Given the description of an element on the screen output the (x, y) to click on. 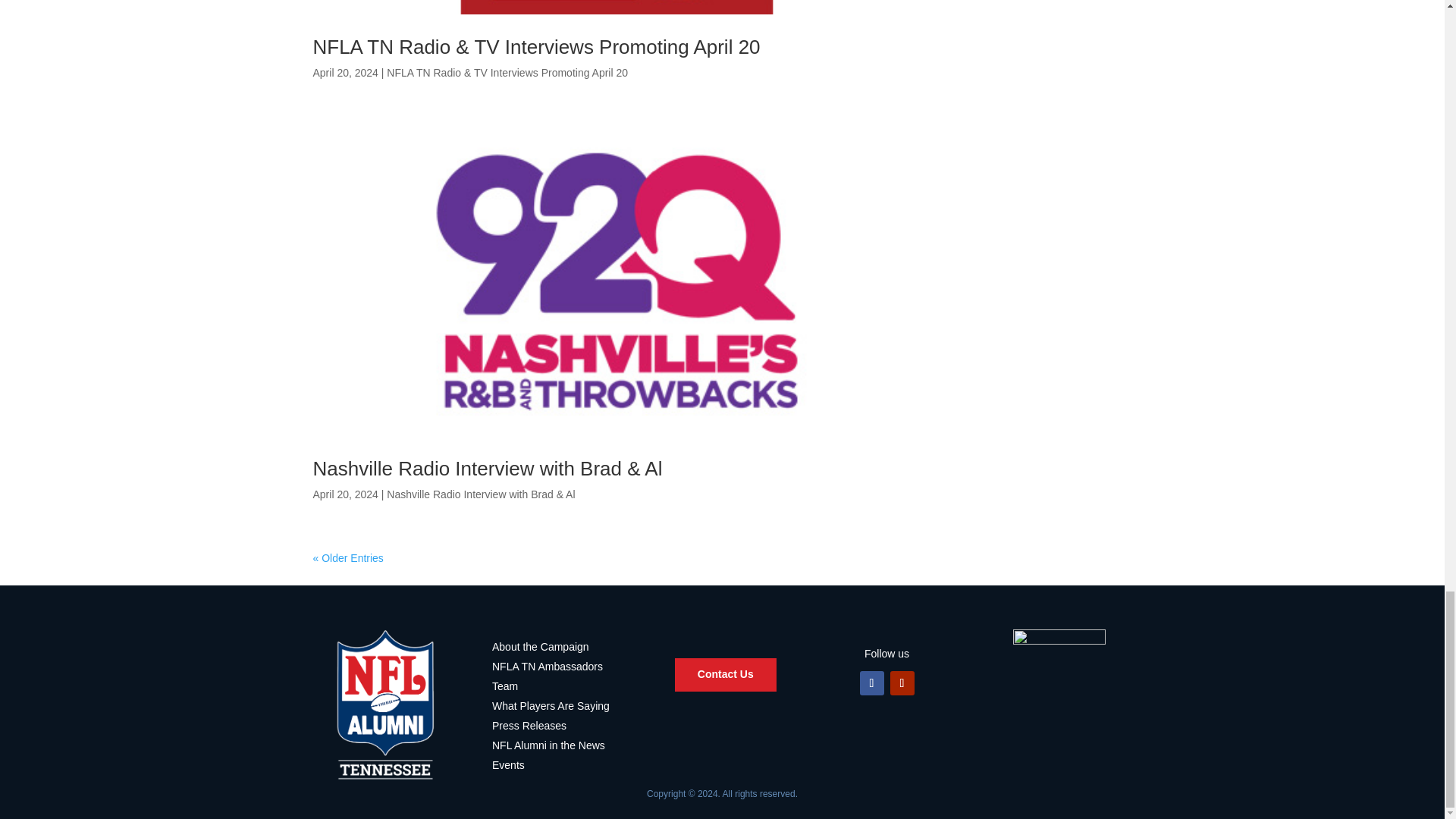
Follow on Youtube (901, 682)
Follow on Facebook (871, 682)
